Given the description of an element on the screen output the (x, y) to click on. 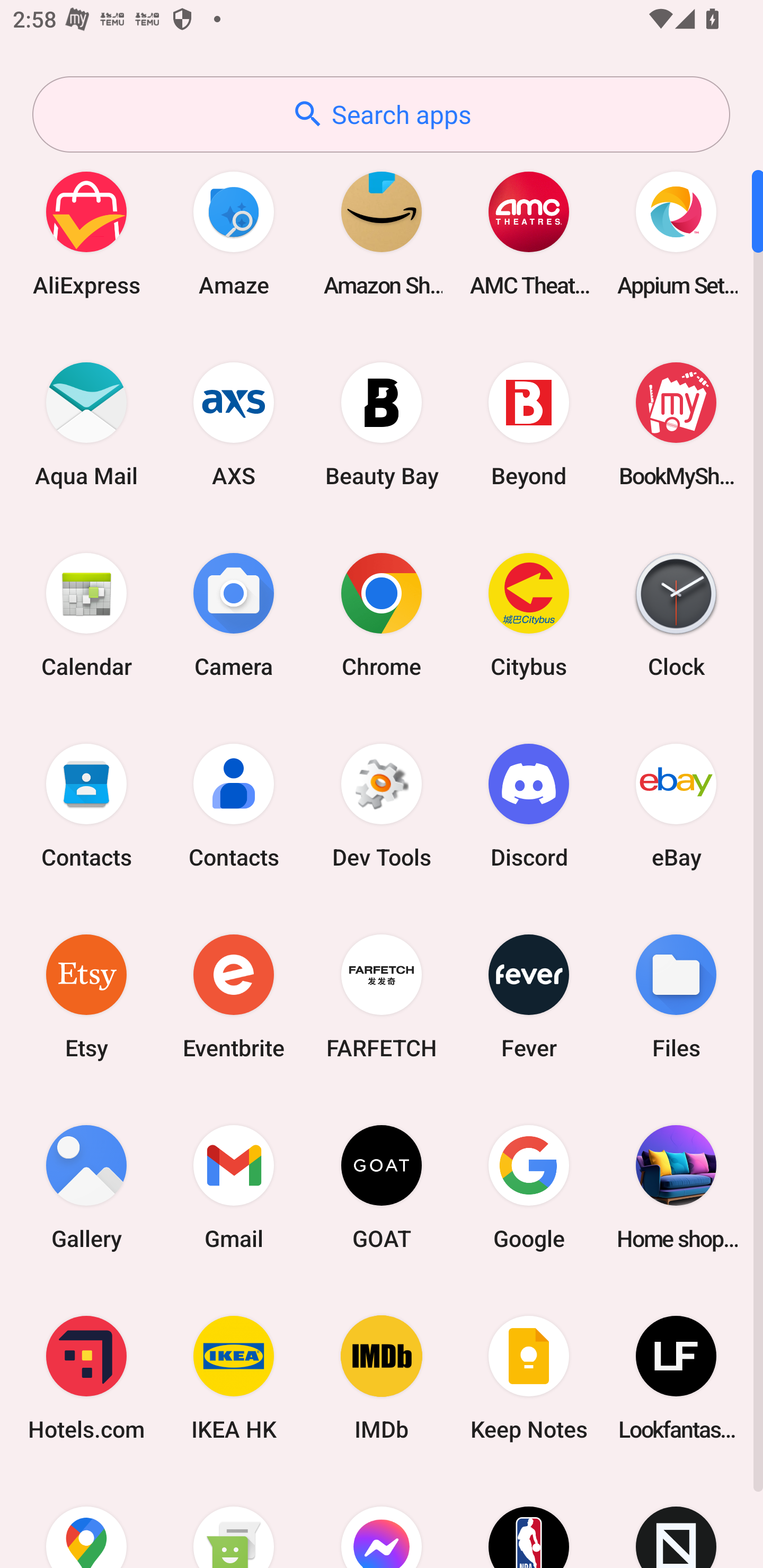
  Search apps (381, 114)
AliExpress (86, 233)
Amaze (233, 233)
Amazon Shopping (381, 233)
AMC Theatres (528, 233)
Appium Settings (676, 233)
Aqua Mail (86, 424)
AXS (233, 424)
Beauty Bay (381, 424)
Beyond (528, 424)
BookMyShow (676, 424)
Calendar (86, 614)
Camera (233, 614)
Chrome (381, 614)
Citybus (528, 614)
Clock (676, 614)
Contacts (86, 805)
Contacts (233, 805)
Dev Tools (381, 805)
Discord (528, 805)
eBay (676, 805)
Etsy (86, 996)
Eventbrite (233, 996)
FARFETCH (381, 996)
Fever (528, 996)
Files (676, 996)
Gallery (86, 1186)
Gmail (233, 1186)
GOAT (381, 1186)
Google (528, 1186)
Home shopping (676, 1186)
Hotels.com (86, 1377)
IKEA HK (233, 1377)
IMDb (381, 1377)
Keep Notes (528, 1377)
Lookfantastic (676, 1377)
